Given the description of an element on the screen output the (x, y) to click on. 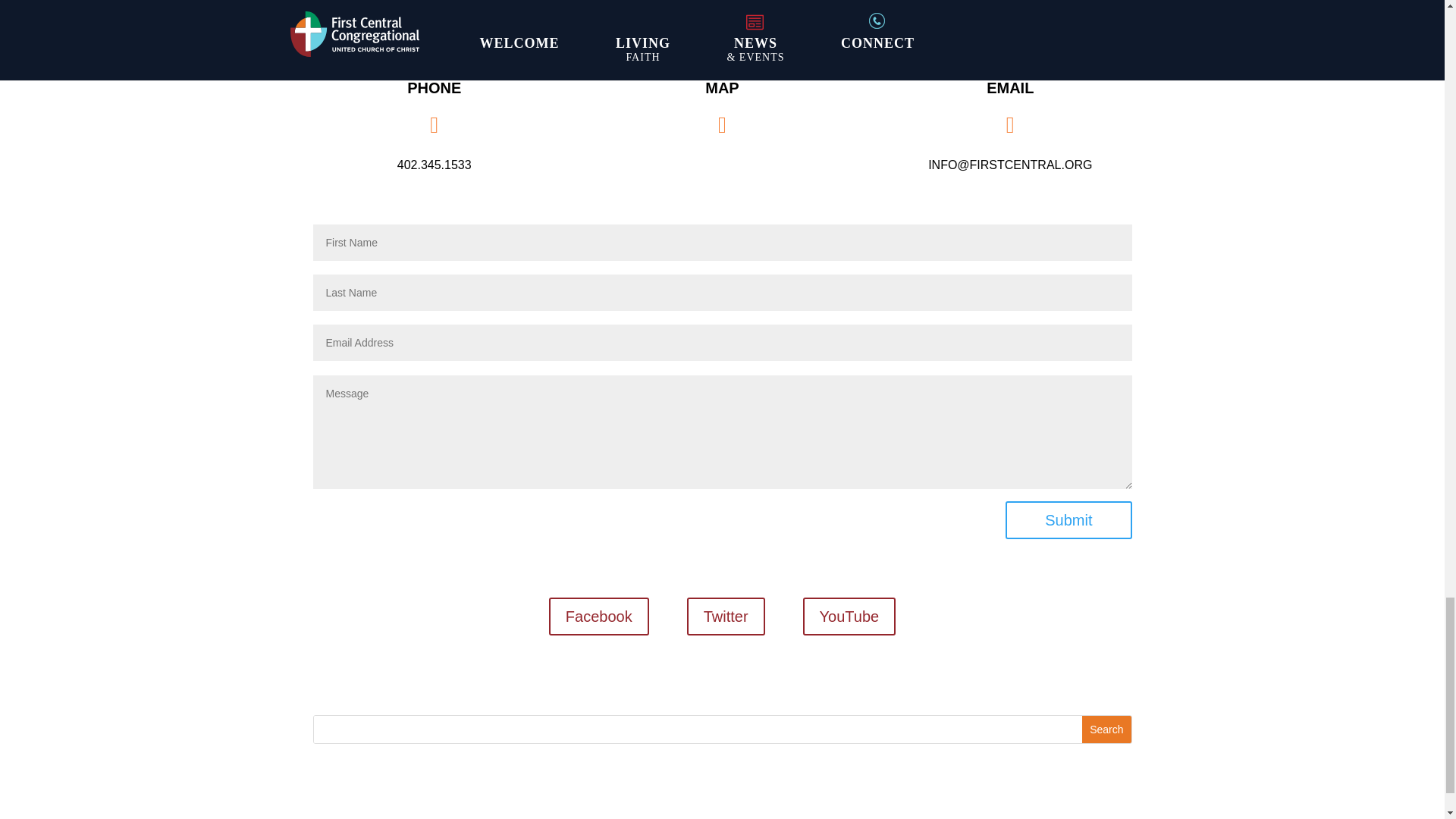
Search (1106, 728)
Submit (1068, 519)
Twitter (726, 616)
Search (1106, 728)
Facebook (598, 616)
